Given the description of an element on the screen output the (x, y) to click on. 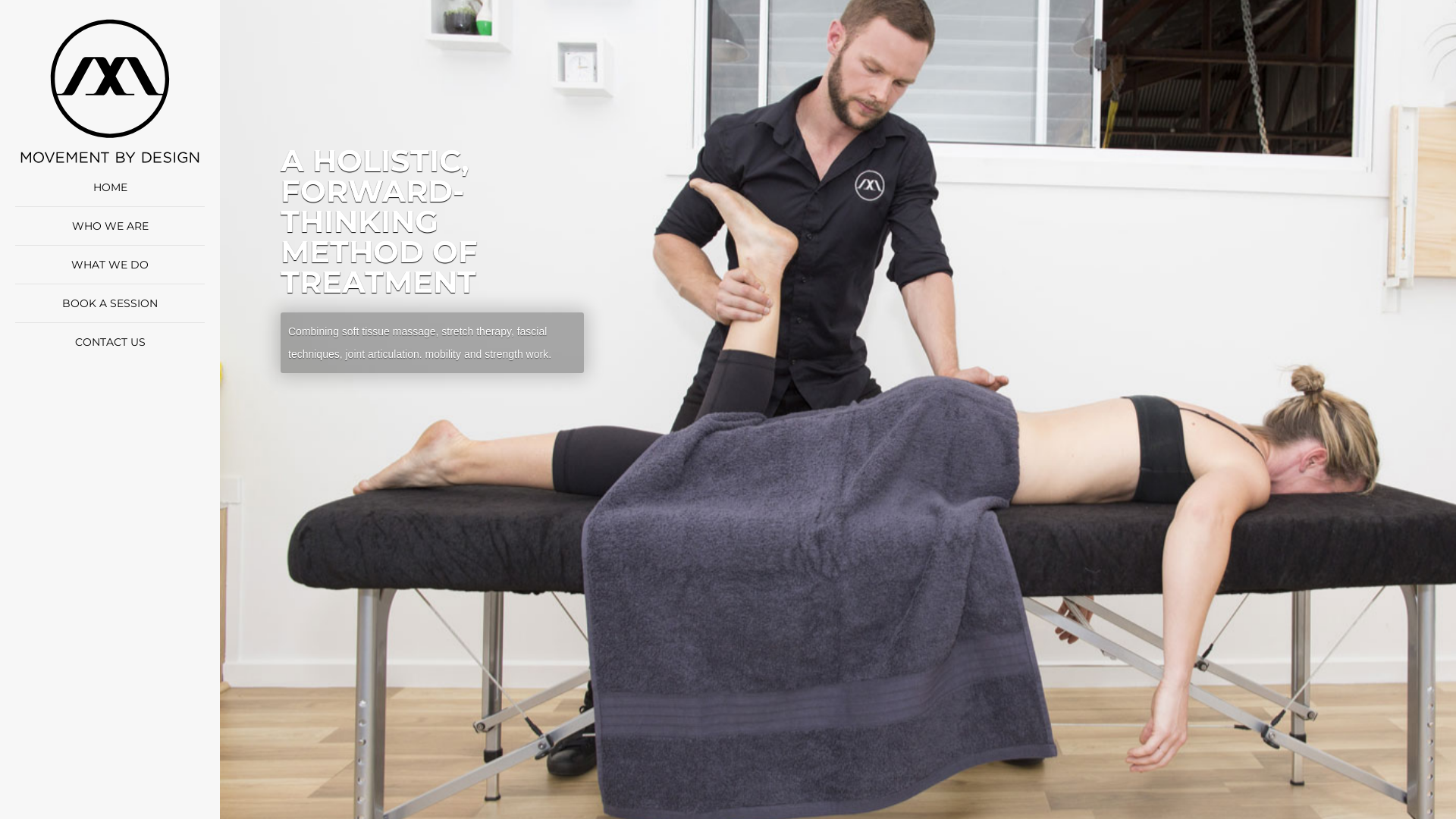
HOME Element type: text (109, 187)
BOOK A SESSION Element type: text (109, 303)
WHAT WE DO Element type: text (109, 264)
CONTACT US Element type: text (109, 341)
WHO WE ARE Element type: text (109, 225)
